Given the description of an element on the screen output the (x, y) to click on. 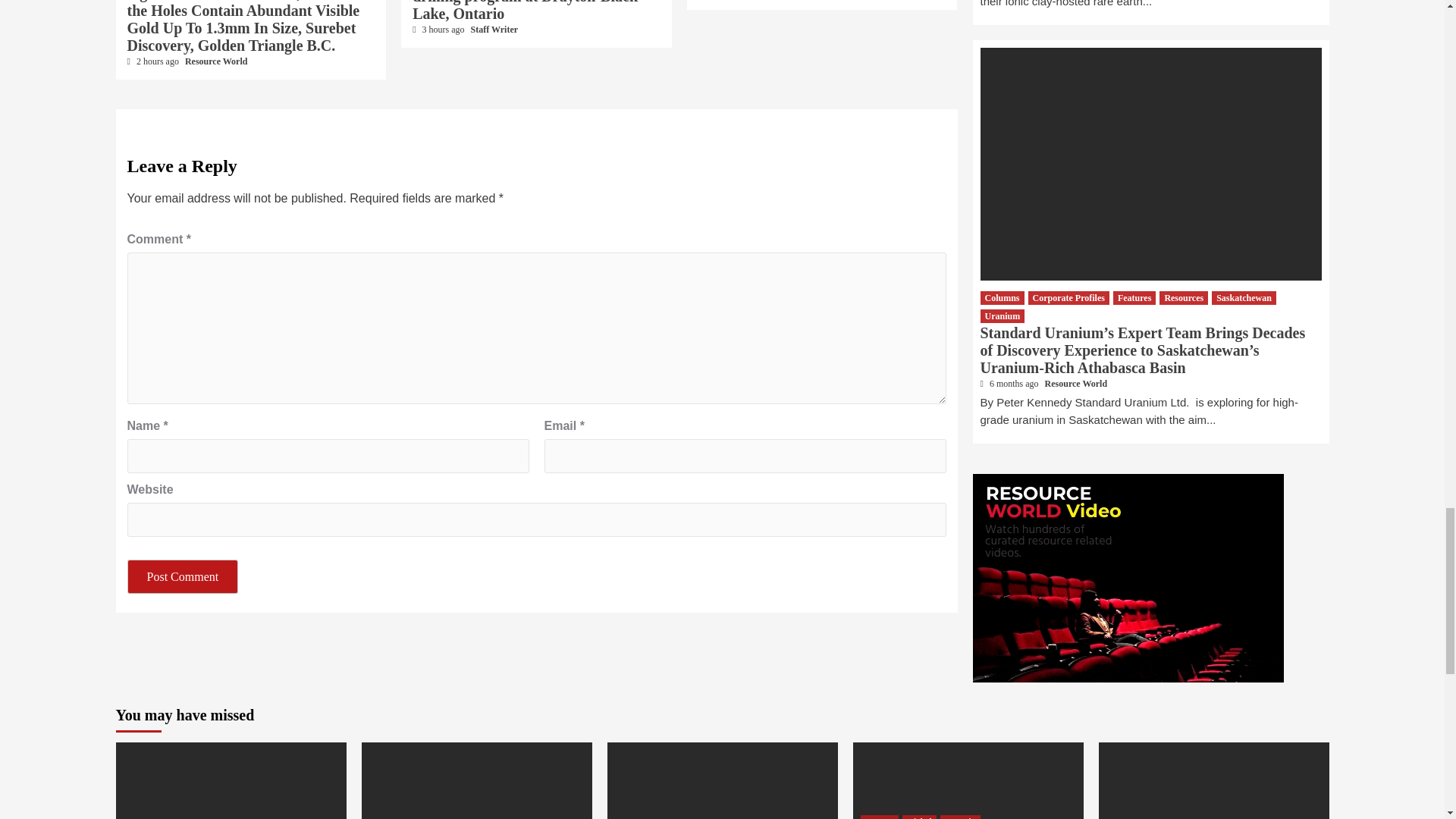
Post Comment (183, 576)
